Given the description of an element on the screen output the (x, y) to click on. 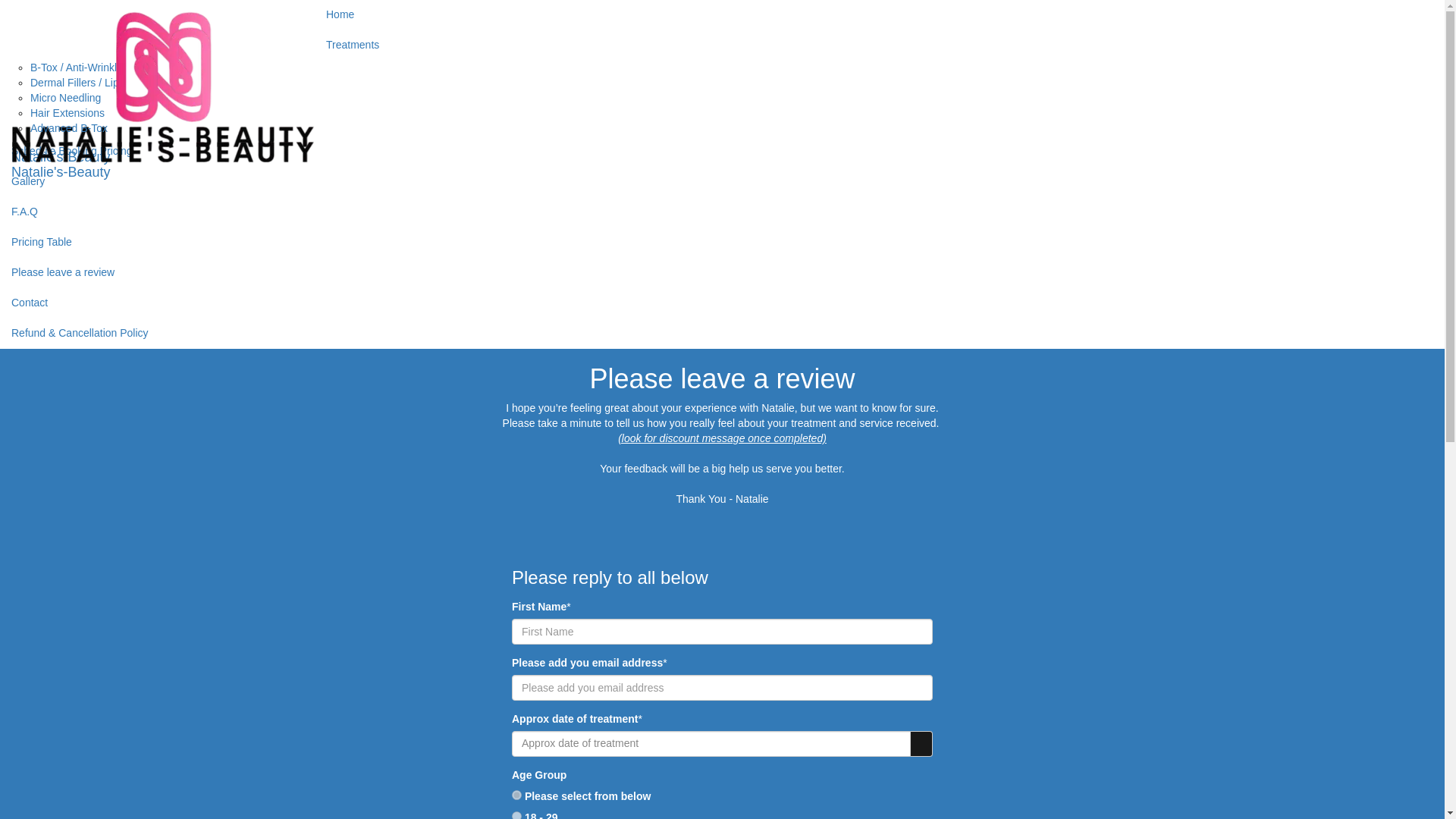
Natalie's-Beauty (163, 34)
Hair Extensions (67, 112)
Please select from below (516, 795)
Natalie's-Beauty (163, 18)
Advanced B-Tox (68, 128)
Micro Needling (65, 97)
18 - 29 (516, 815)
